Given the description of an element on the screen output the (x, y) to click on. 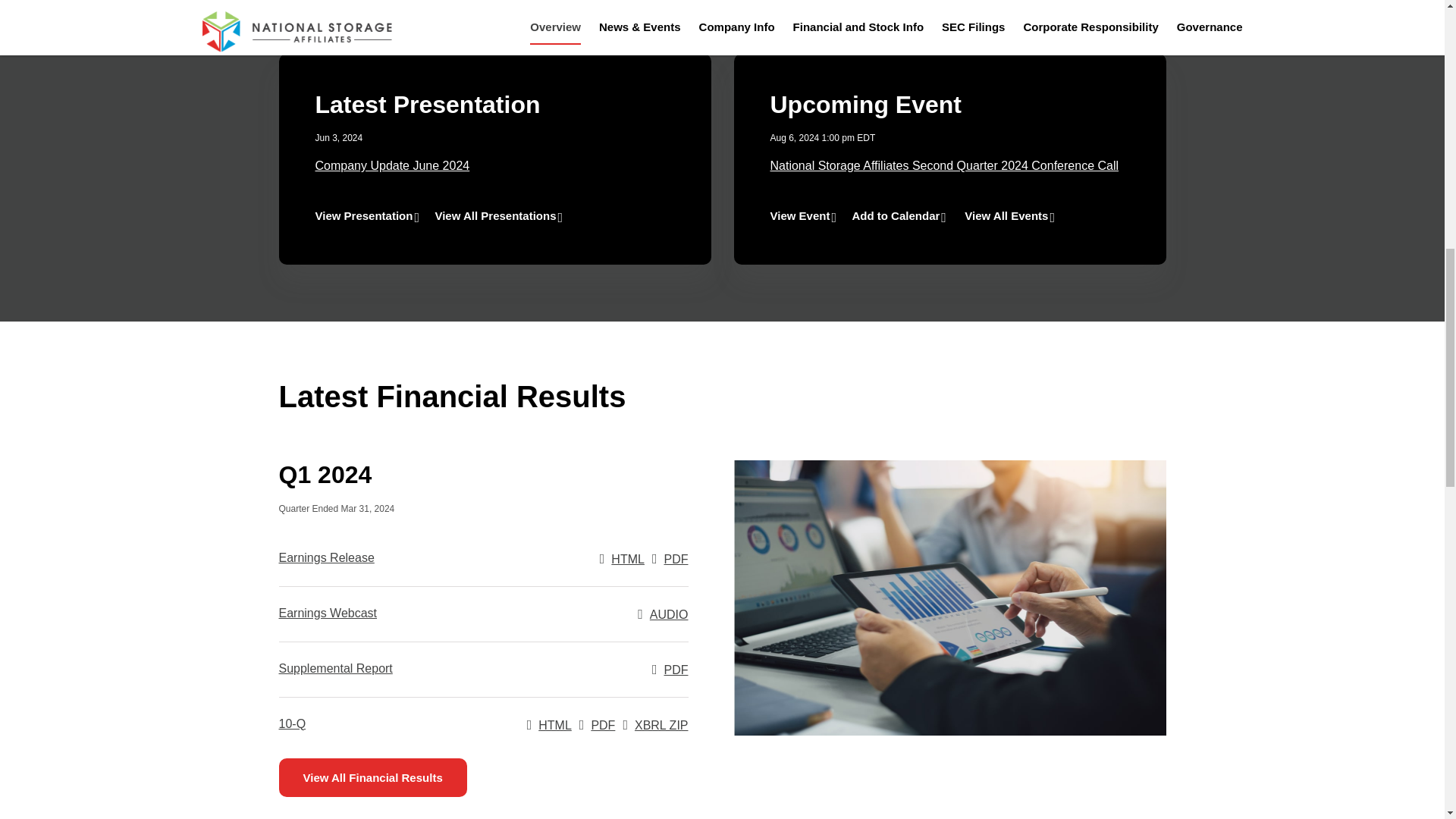
Opens in a new window (597, 725)
Opens in a new window (483, 613)
Opens in a new window (670, 558)
Opens in a new window (495, 189)
Opens in a new window (483, 669)
Opens in a new window (655, 725)
Opens in a new window (425, 725)
